Given the description of an element on the screen output the (x, y) to click on. 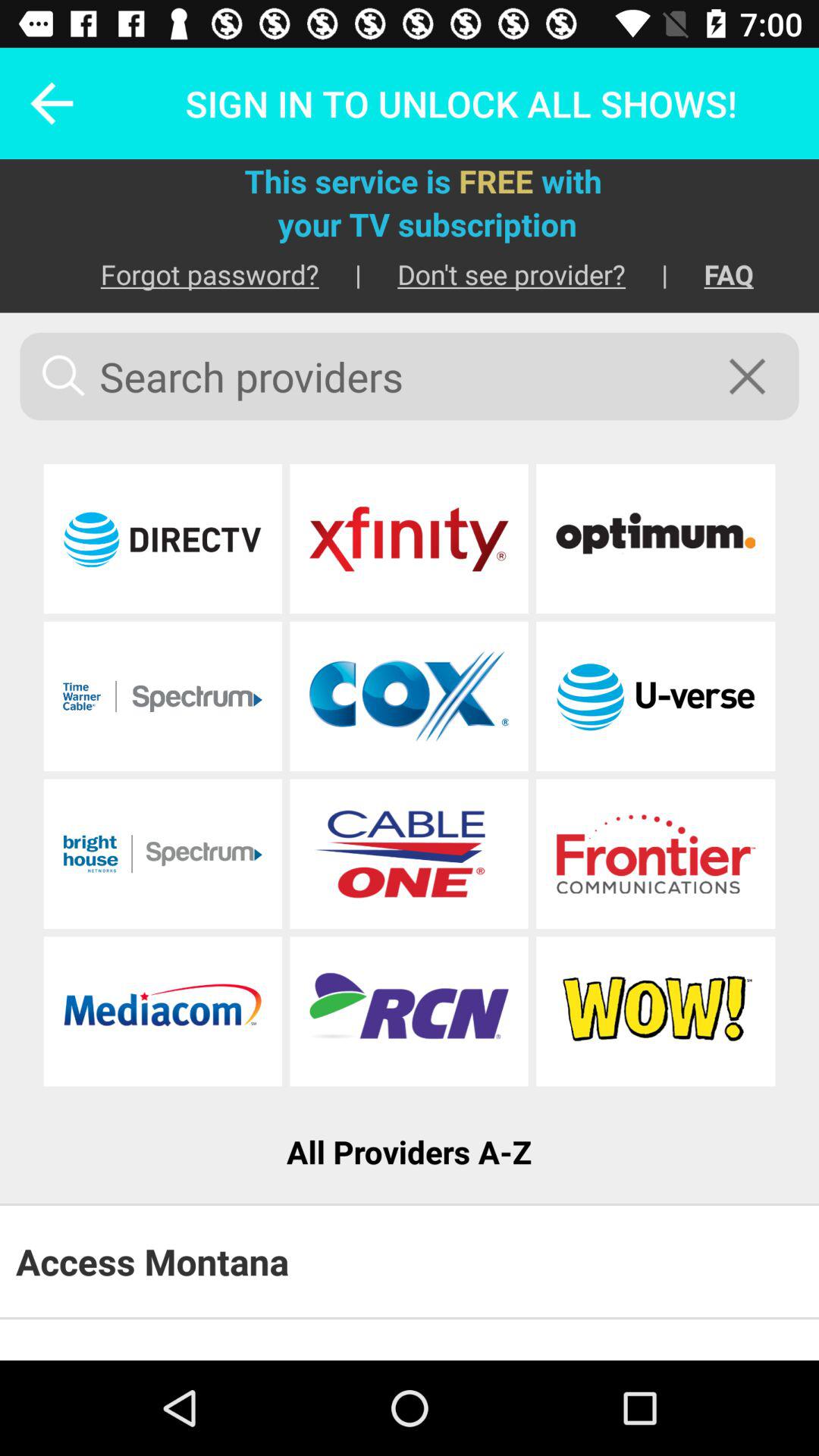
close screen (757, 376)
